Given the description of an element on the screen output the (x, y) to click on. 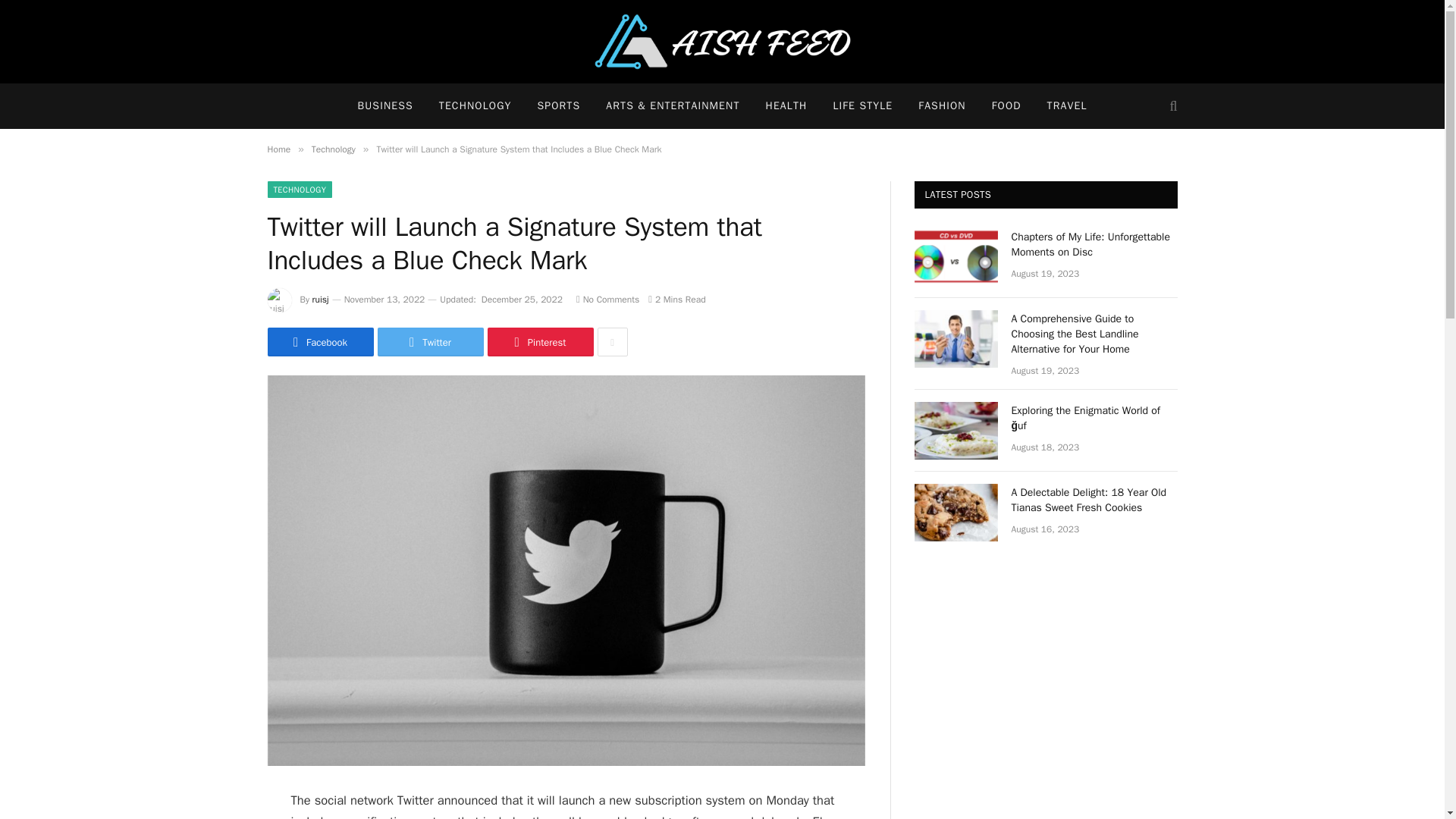
Home (277, 149)
LIFE STYLE (862, 105)
Pinterest (539, 341)
Technology (333, 149)
Posts by ruisj (321, 299)
FASHION (941, 105)
FOOD (1005, 105)
Aish Feed (721, 41)
Twitter (430, 341)
TECHNOLOGY (475, 105)
